Given the description of an element on the screen output the (x, y) to click on. 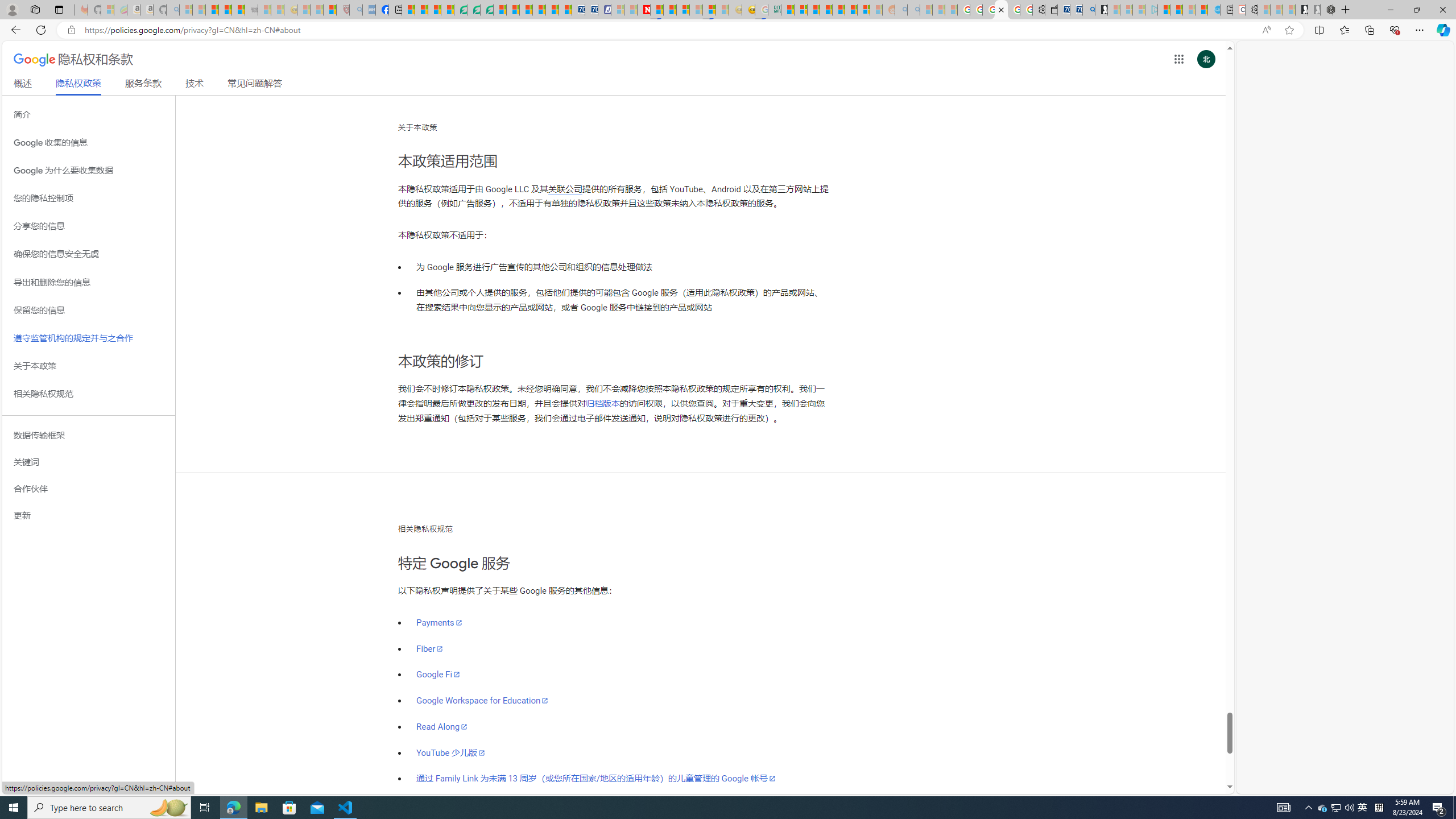
Local - MSN (329, 9)
